Given the description of an element on the screen output the (x, y) to click on. 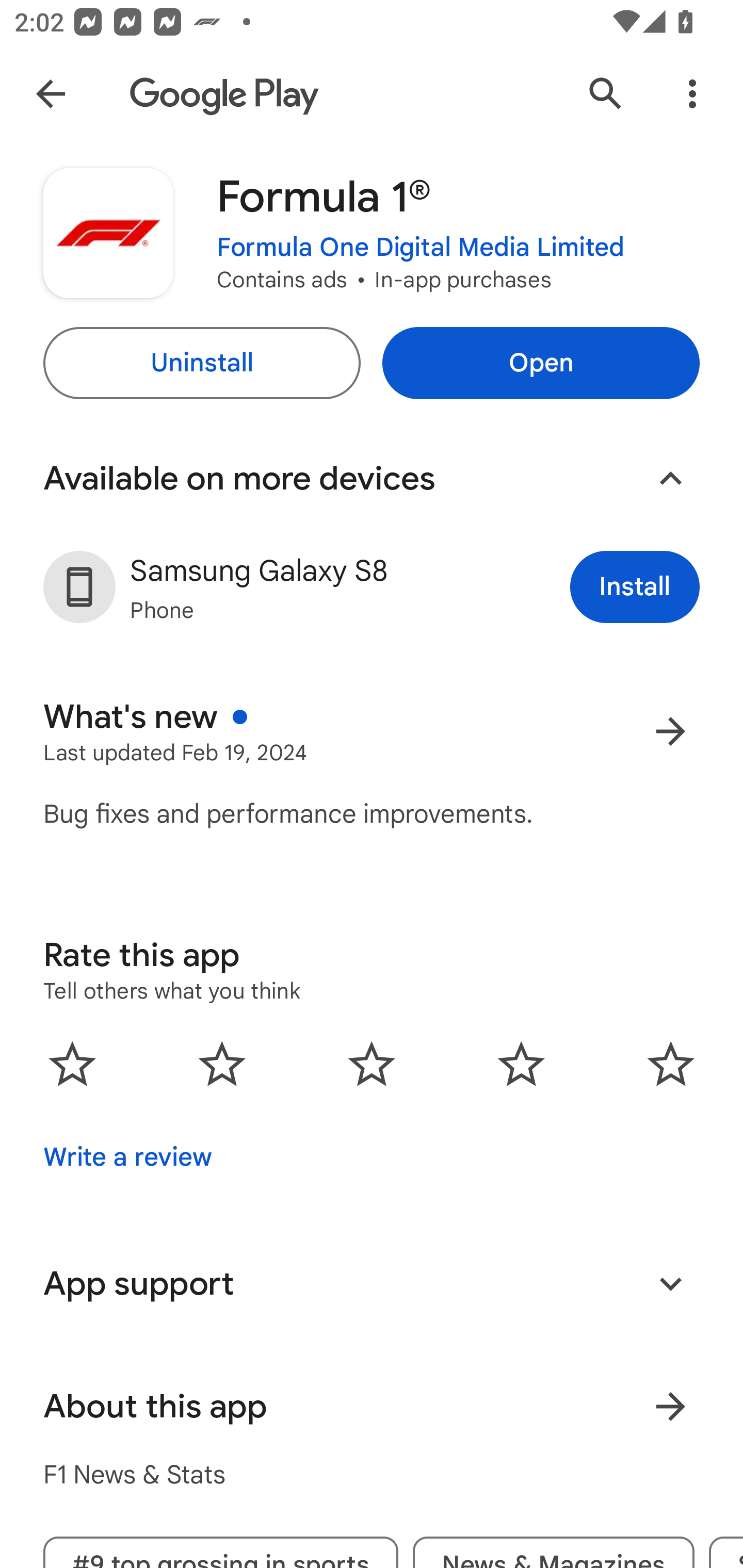
Navigate up (50, 93)
Search Google Play (605, 93)
More Options (692, 93)
Formula One Digital Media Limited (420, 247)
Uninstall (201, 362)
Open (540, 362)
Available on more devices Collapse (371, 478)
Collapse (670, 478)
Install (634, 587)
More results for What's new (670, 731)
0.0 (371, 1063)
Write a review (127, 1157)
App support Expand (371, 1284)
Expand (670, 1283)
About this app Learn more About this app (371, 1406)
Learn more About this app (670, 1406)
